Given the description of an element on the screen output the (x, y) to click on. 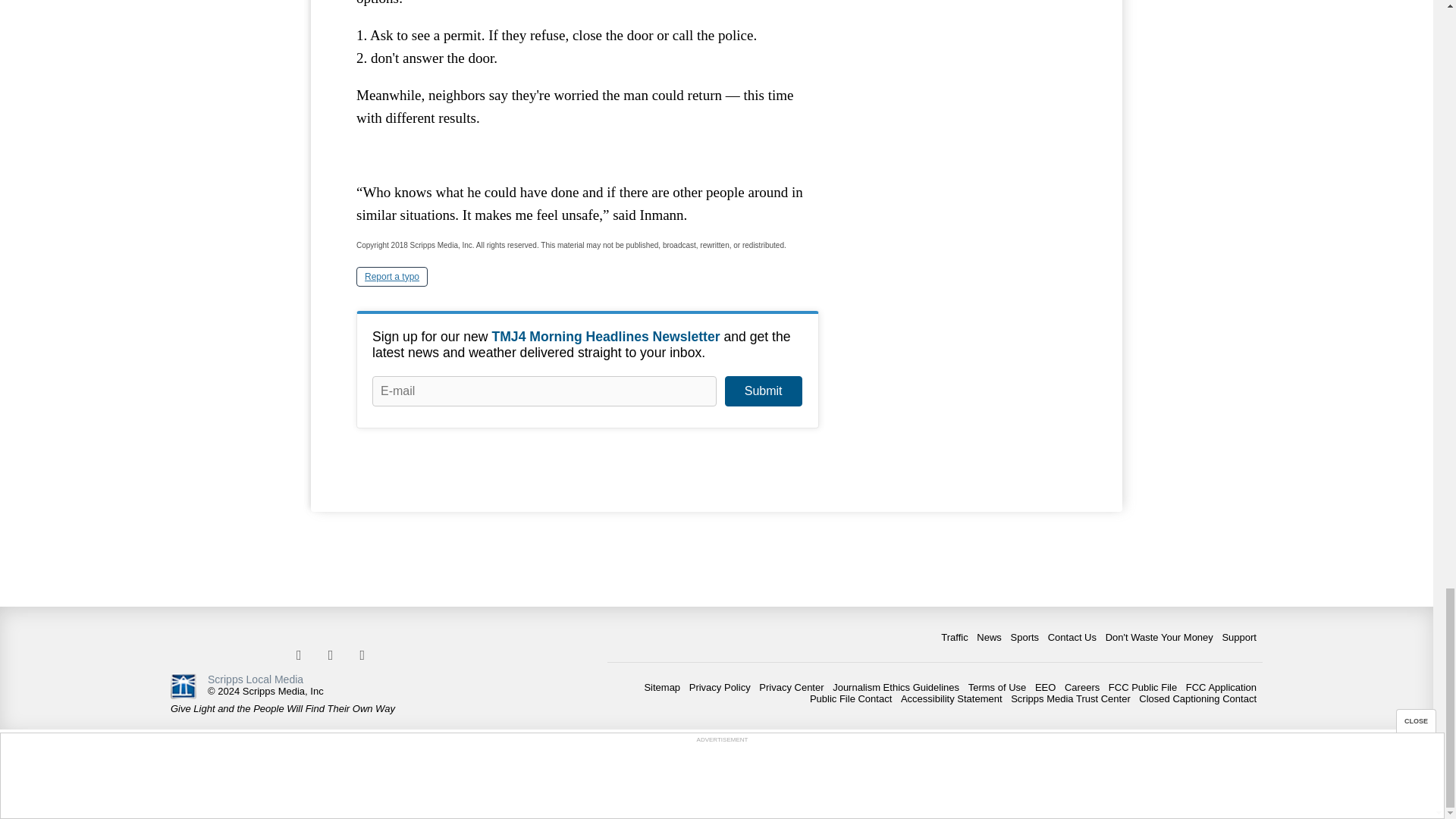
Submit (763, 390)
